Given the description of an element on the screen output the (x, y) to click on. 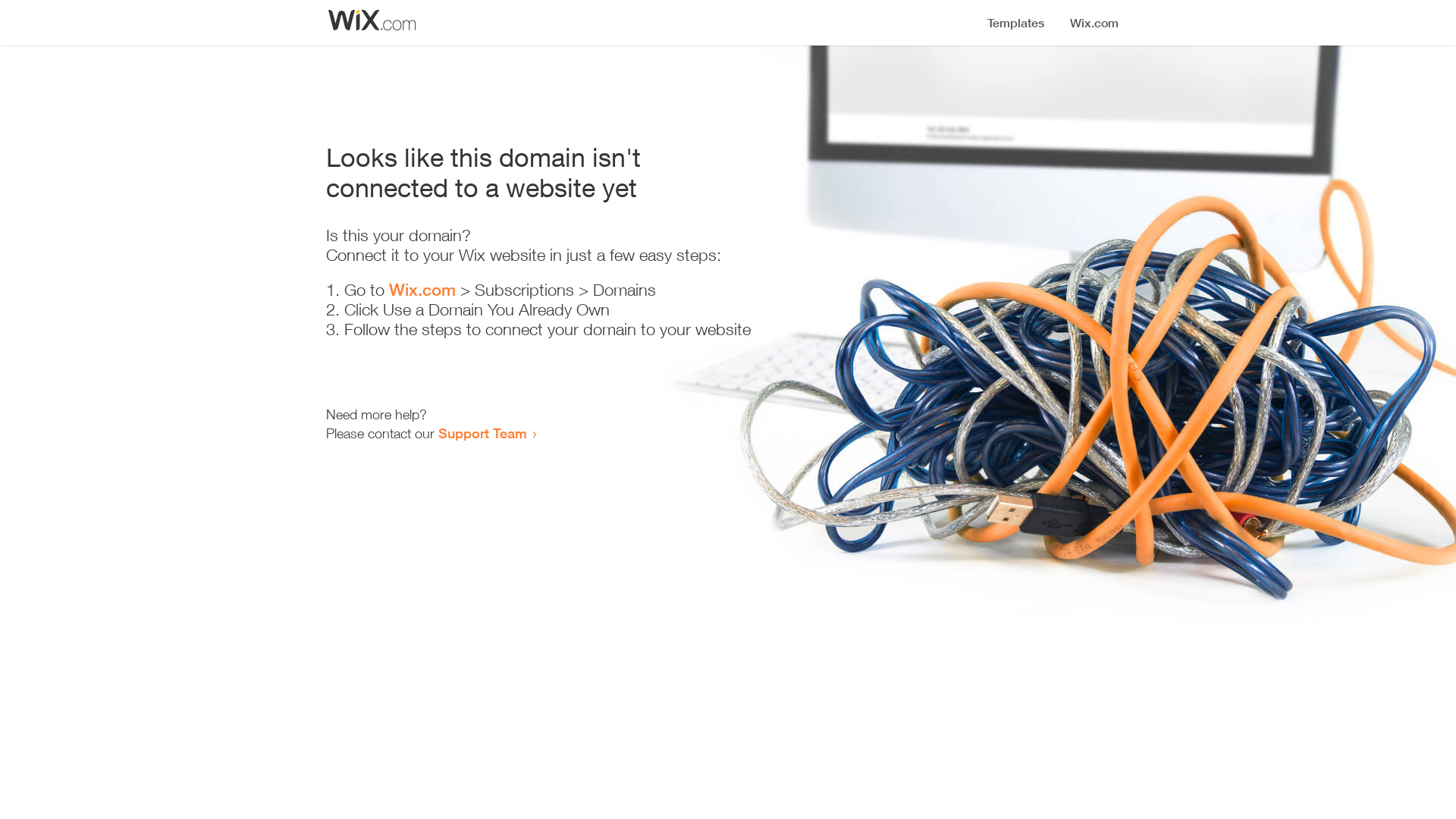
Wix.com Element type: text (422, 289)
Support Team Element type: text (482, 432)
